Given the description of an element on the screen output the (x, y) to click on. 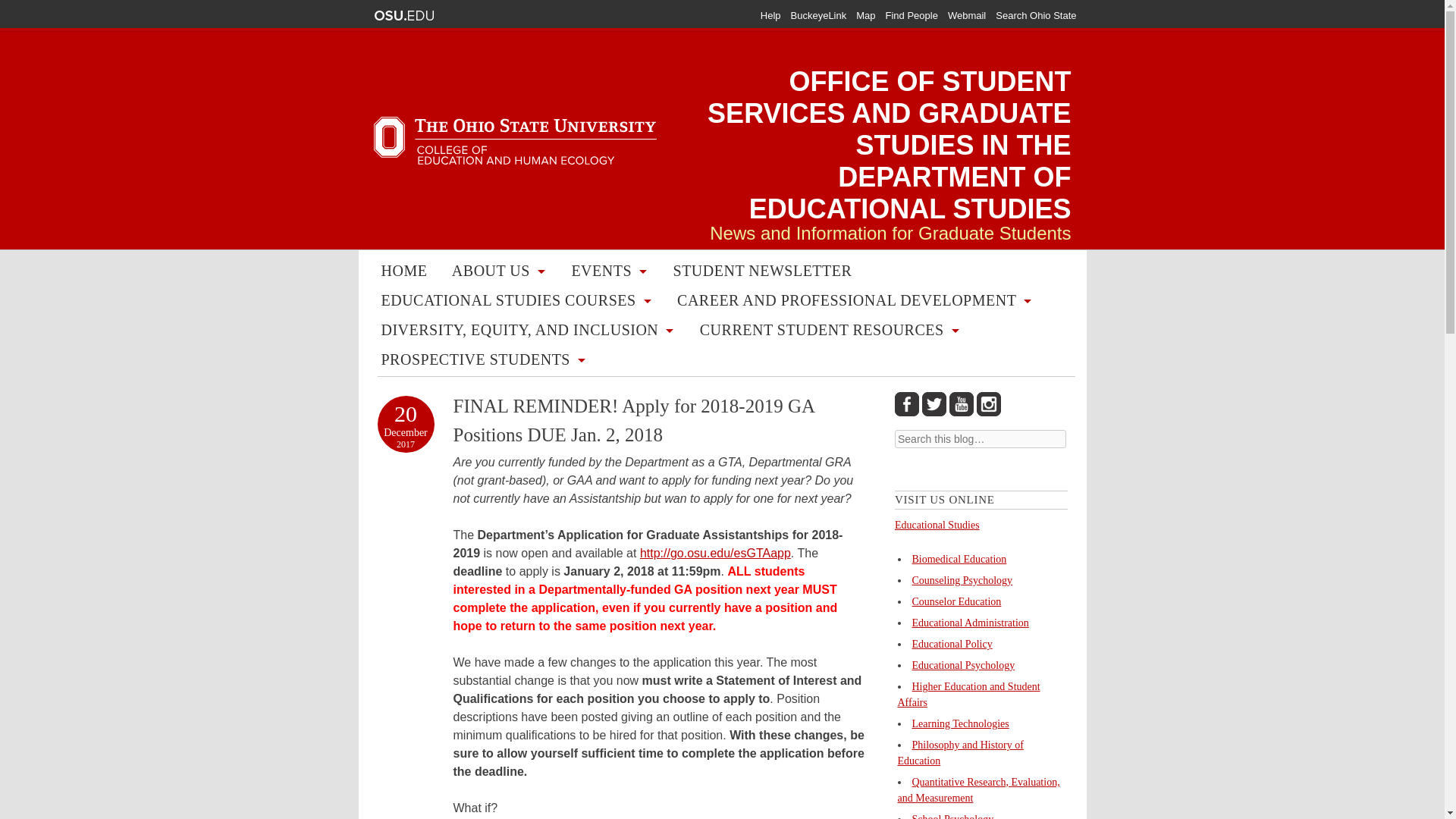
osuedstudies on Instagram (988, 404)
EVENTS (600, 272)
STUDENT NEWSLETTER (762, 272)
OhioStateEdStudies on Facebook (906, 404)
ABOUT US (491, 272)
Find People (911, 15)
HOME (403, 272)
Help (770, 15)
Search Ohio State (1035, 15)
BuckeyeLink (818, 15)
Webmail (966, 15)
EDUCATIONAL STUDIES COURSES (508, 301)
Search for: (980, 438)
CURRENT STUDENT RESOURCES (821, 331)
